Given the description of an element on the screen output the (x, y) to click on. 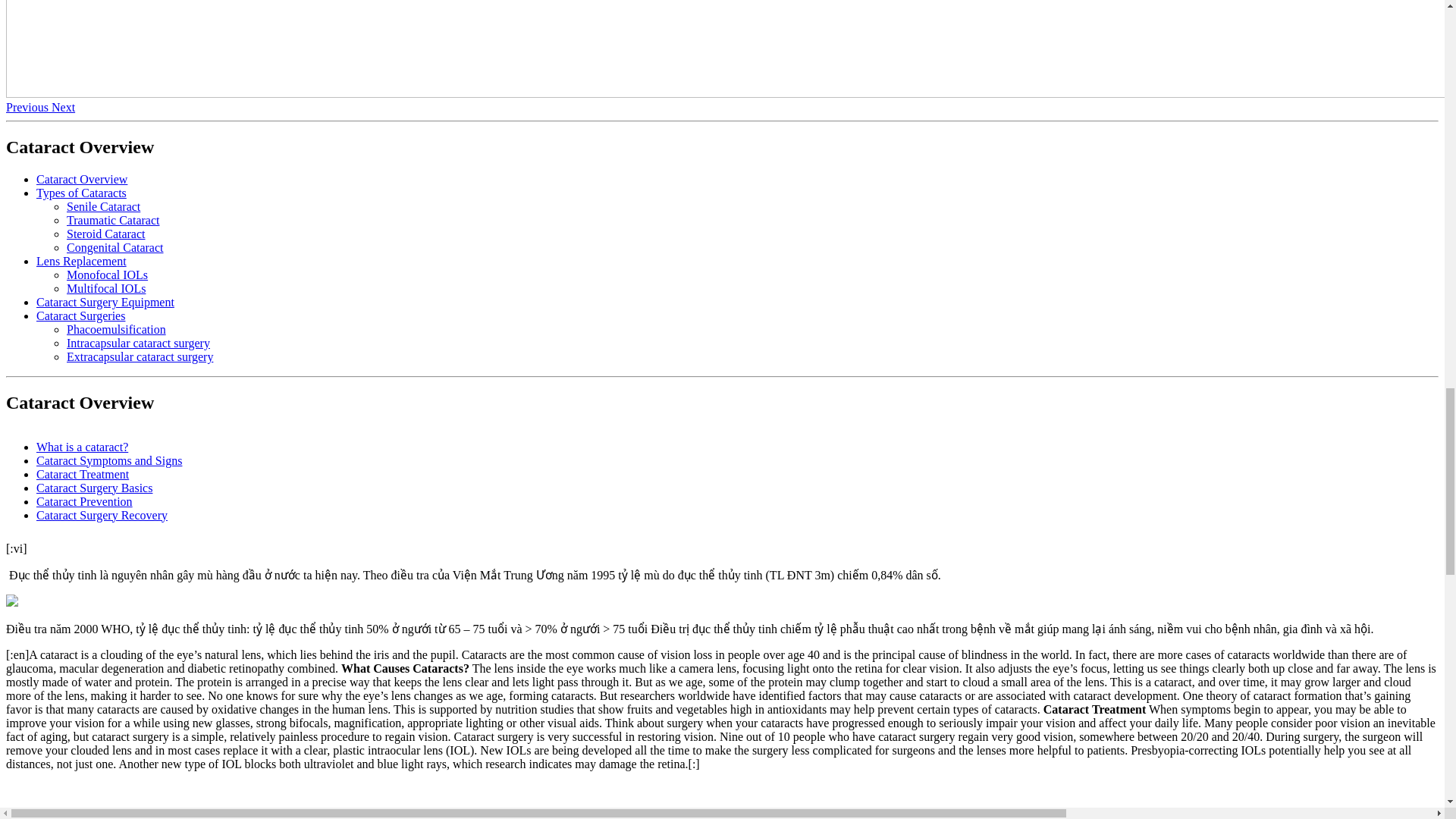
Previous (27, 106)
Cataract Overview (82, 178)
Next (62, 106)
